Given the description of an element on the screen output the (x, y) to click on. 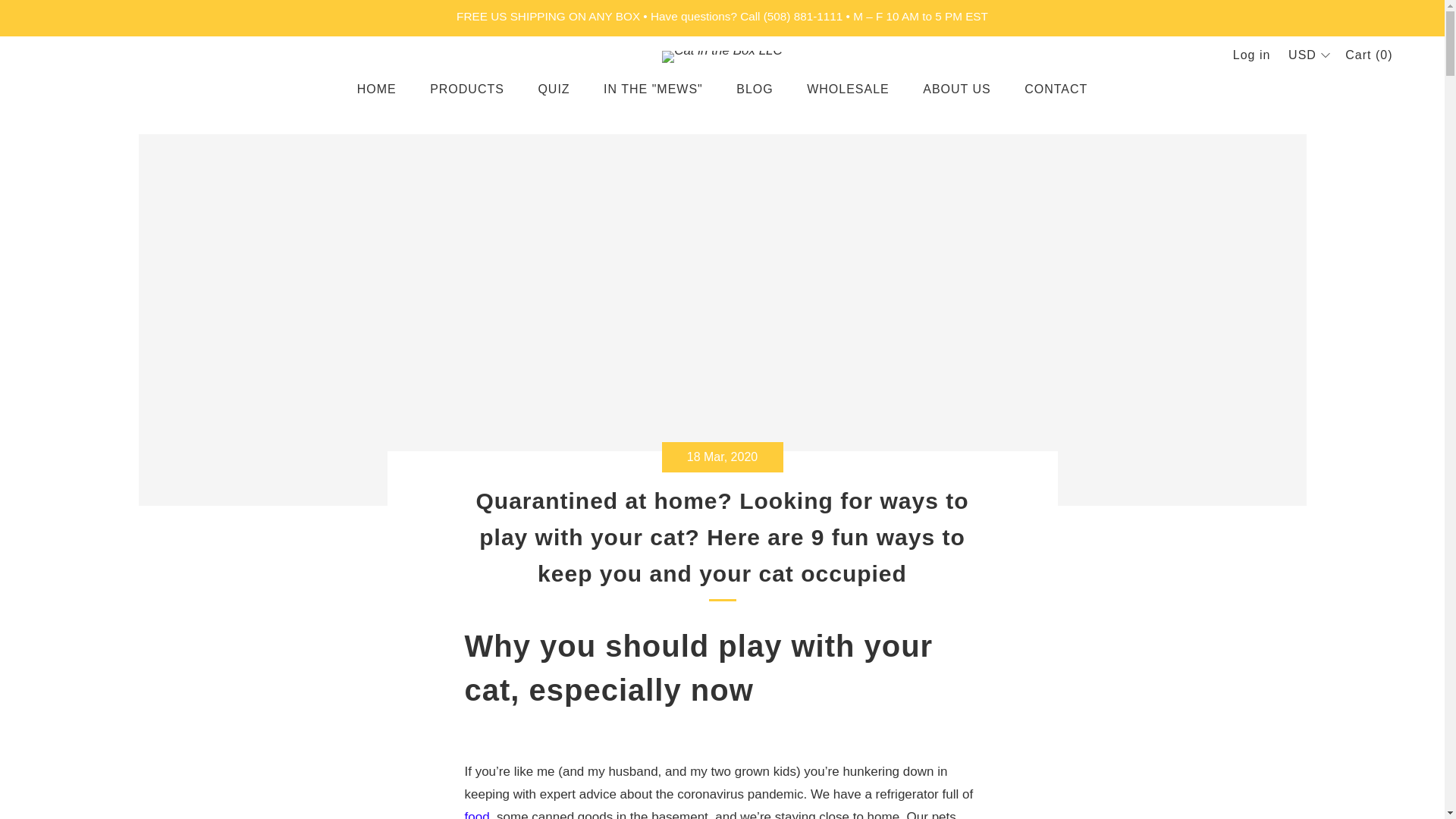
ABOUT US (957, 88)
QUIZ (553, 88)
CONTACT (1056, 88)
PRODUCTS (466, 88)
BLOG (754, 88)
USD (1307, 55)
How much should I feed my cat? (476, 814)
HOME (376, 88)
Log in (1252, 55)
food (476, 814)
WHOLESALE (847, 88)
IN THE "MEWS" (653, 88)
